Given the description of an element on the screen output the (x, y) to click on. 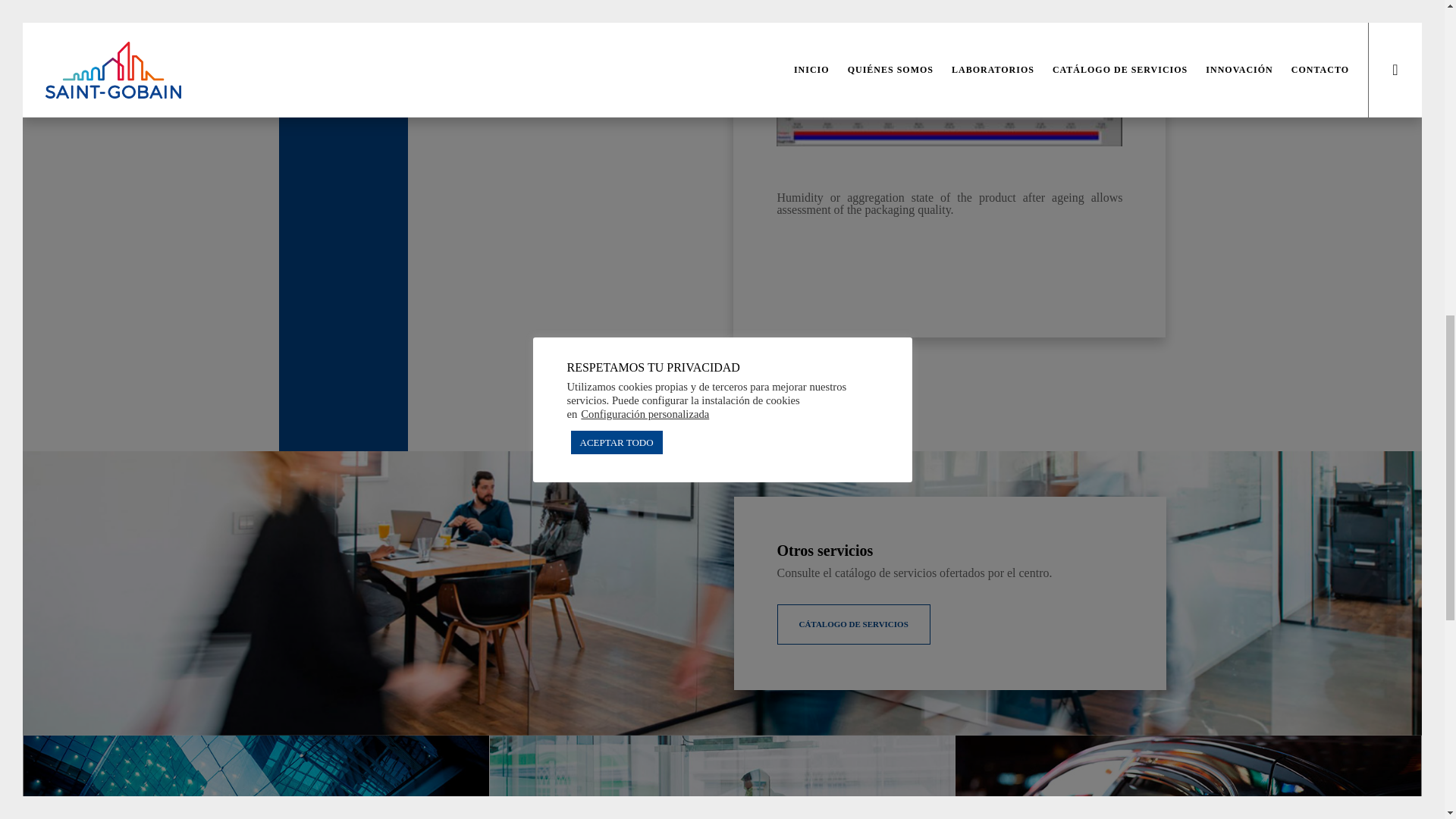
Contacto (853, 624)
